Given the description of an element on the screen output the (x, y) to click on. 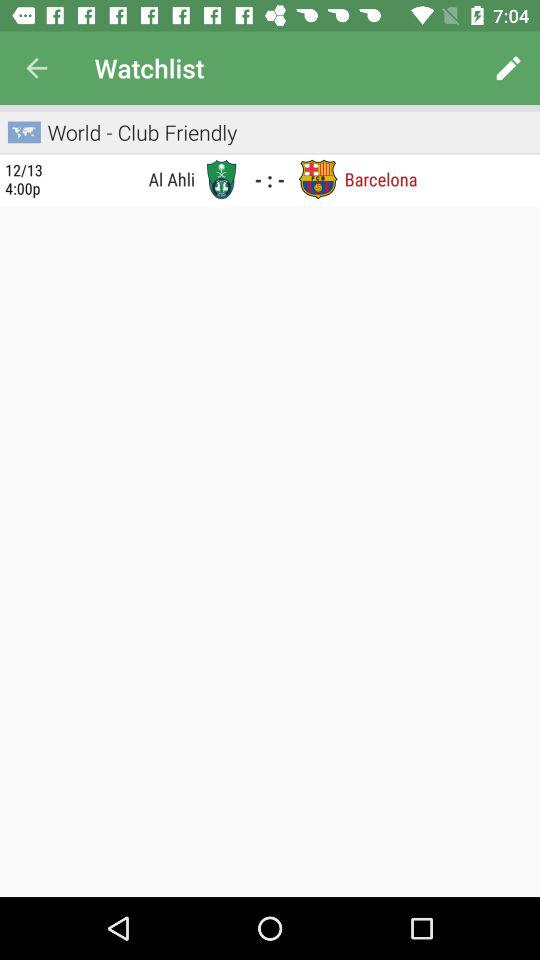
turn off world - club friendly icon (141, 132)
